Given the description of an element on the screen output the (x, y) to click on. 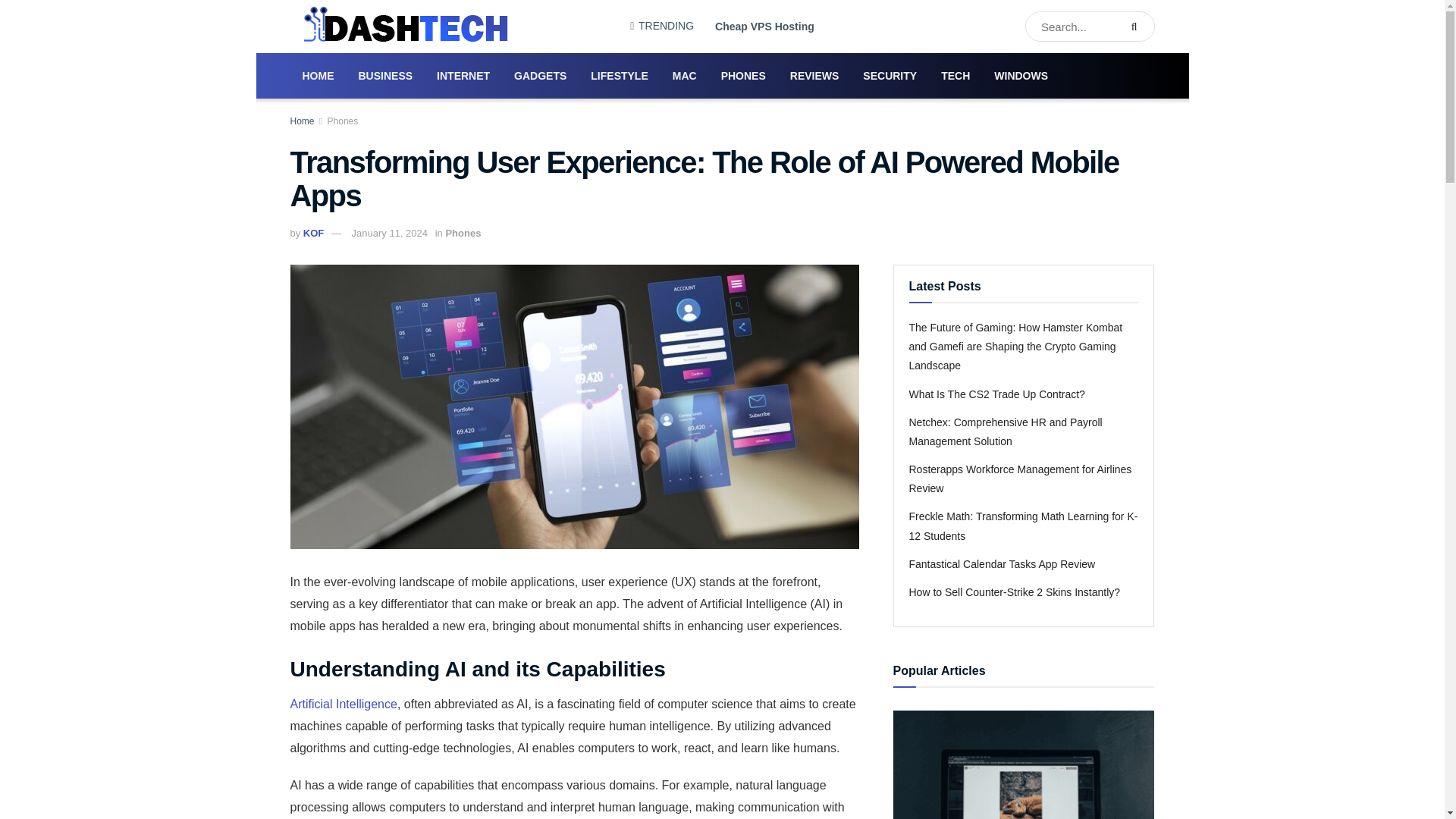
Home (301, 121)
Phones (462, 233)
LIFESTYLE (618, 75)
INTERNET (463, 75)
KOF (312, 233)
SECURITY (889, 75)
Cheap VPS Hosting (763, 26)
MAC (685, 75)
TECH (954, 75)
REVIEWS (814, 75)
January 11, 2024 (390, 233)
HOME (317, 75)
BUSINESS (385, 75)
PHONES (743, 75)
Phones (342, 121)
